Given the description of an element on the screen output the (x, y) to click on. 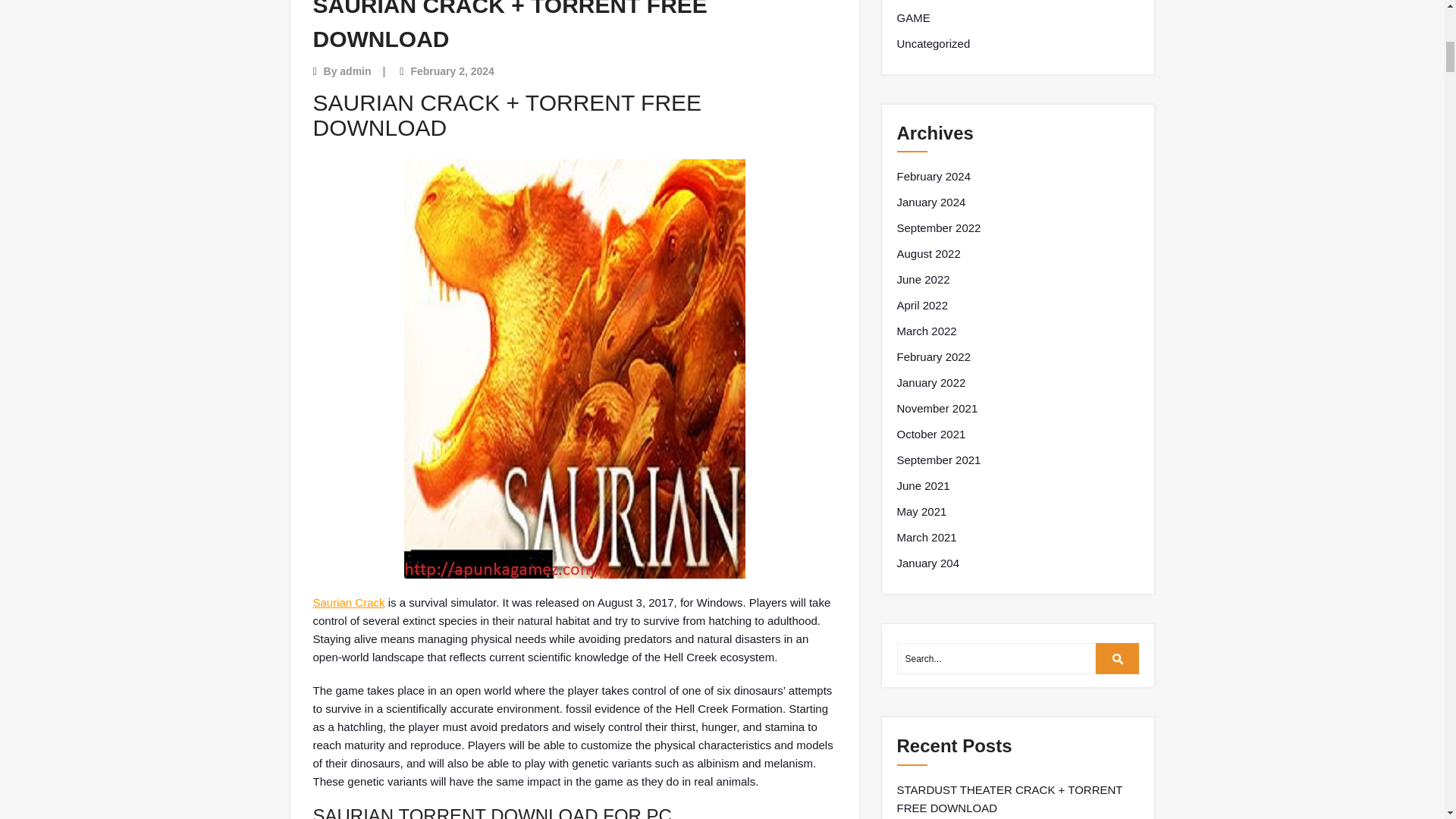
admin (355, 70)
Search (1118, 658)
February 2, 2024 (452, 70)
Saurian Crack (348, 602)
